Given the description of an element on the screen output the (x, y) to click on. 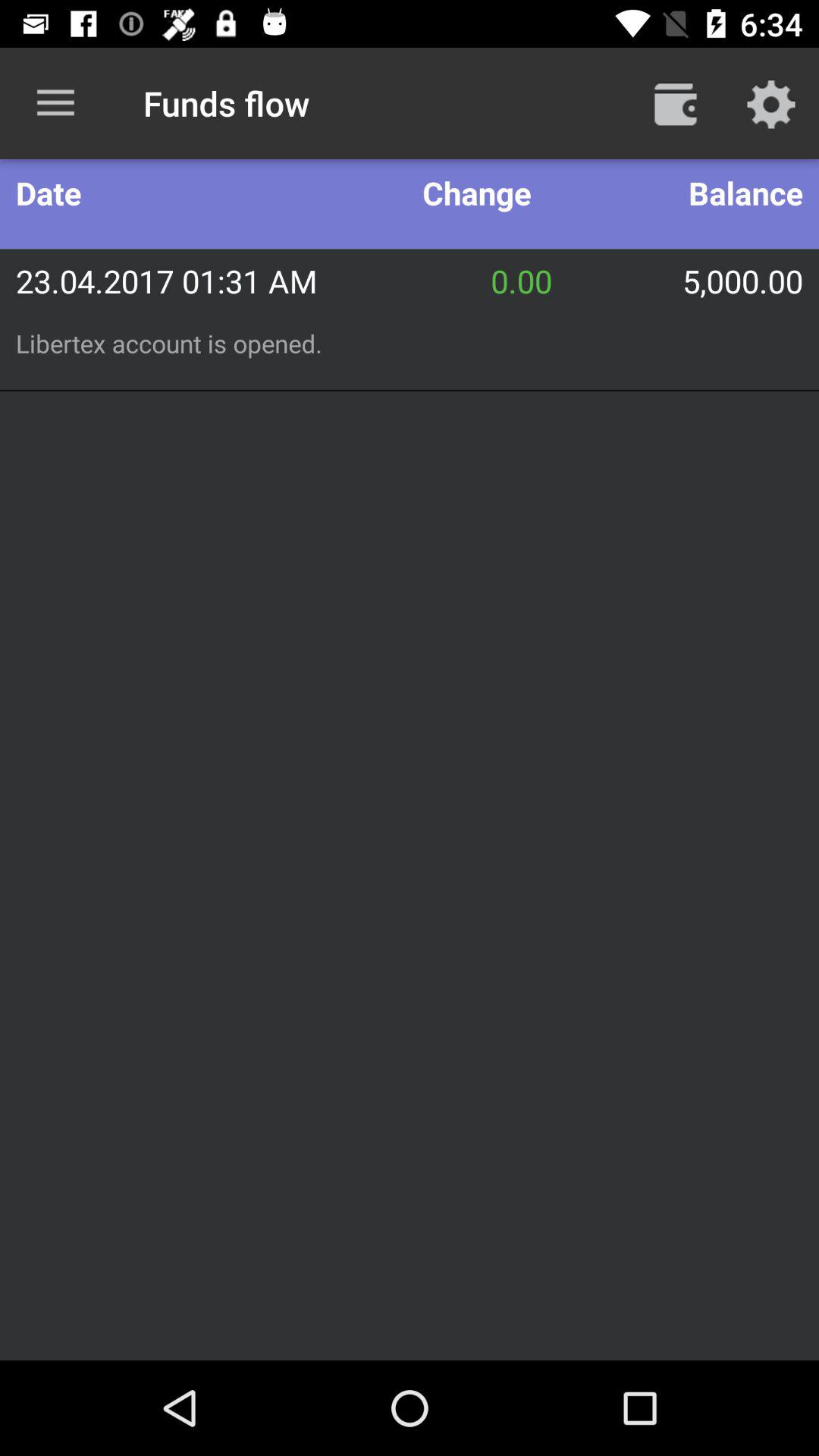
launch item next to funds flow (675, 103)
